Given the description of an element on the screen output the (x, y) to click on. 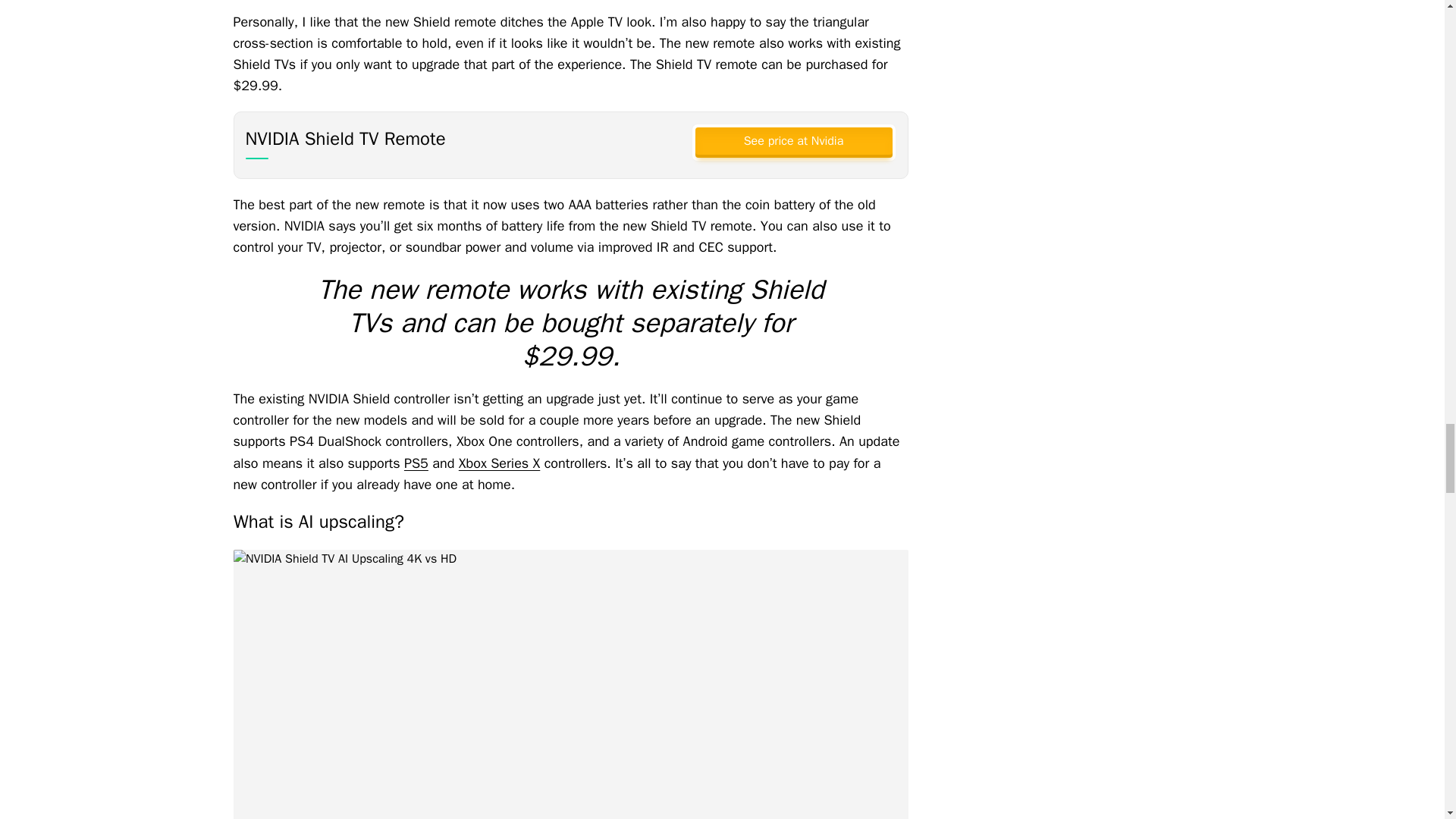
Xbox Series X (499, 463)
See price at Nvidia (792, 140)
PS5 (416, 463)
